Given the description of an element on the screen output the (x, y) to click on. 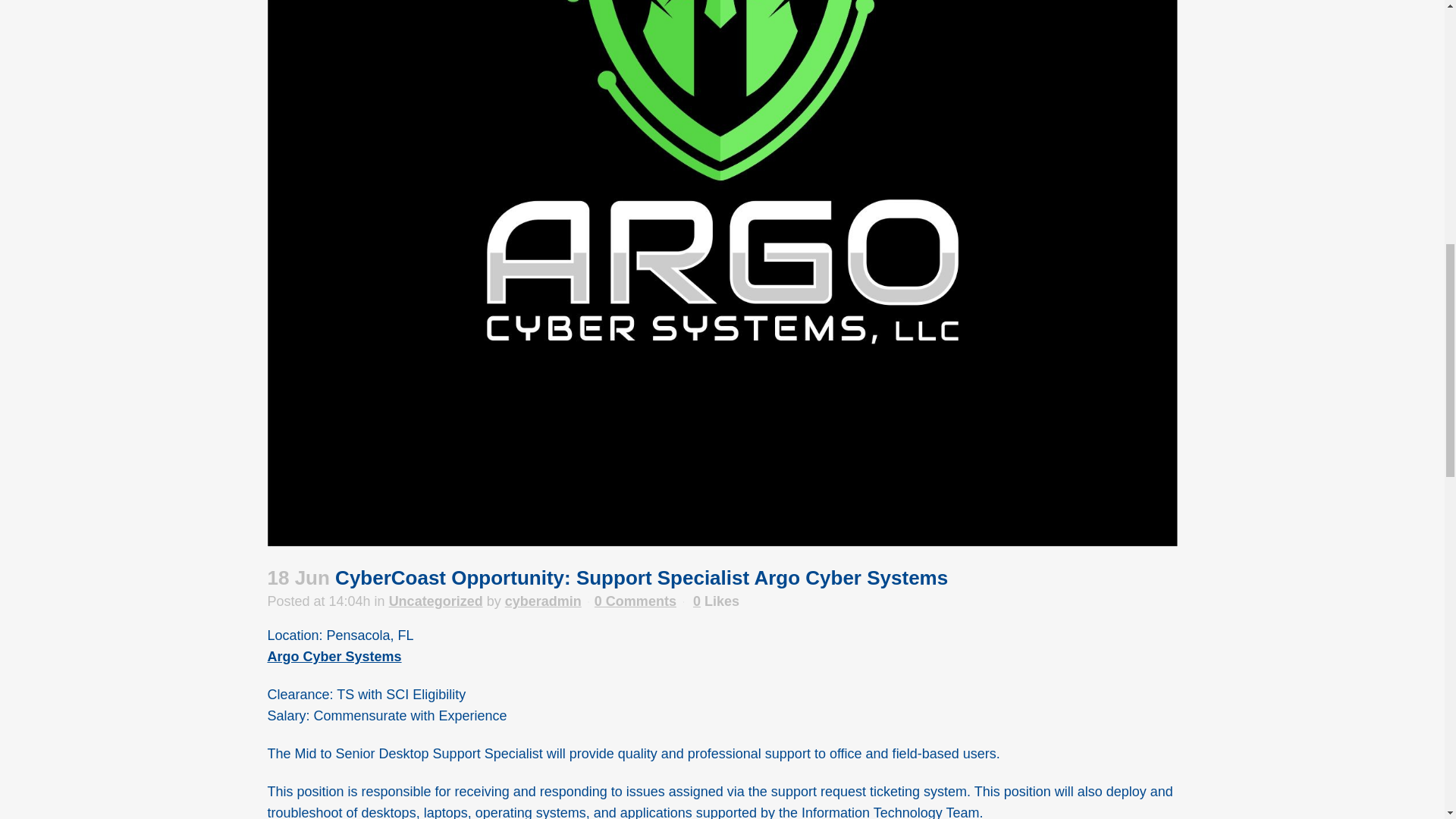
0 Comments (635, 601)
Uncategorized (435, 601)
0 Likes (716, 601)
cyberadmin (542, 601)
Argo Cyber Systems (333, 656)
Like this (716, 601)
